Given the description of an element on the screen output the (x, y) to click on. 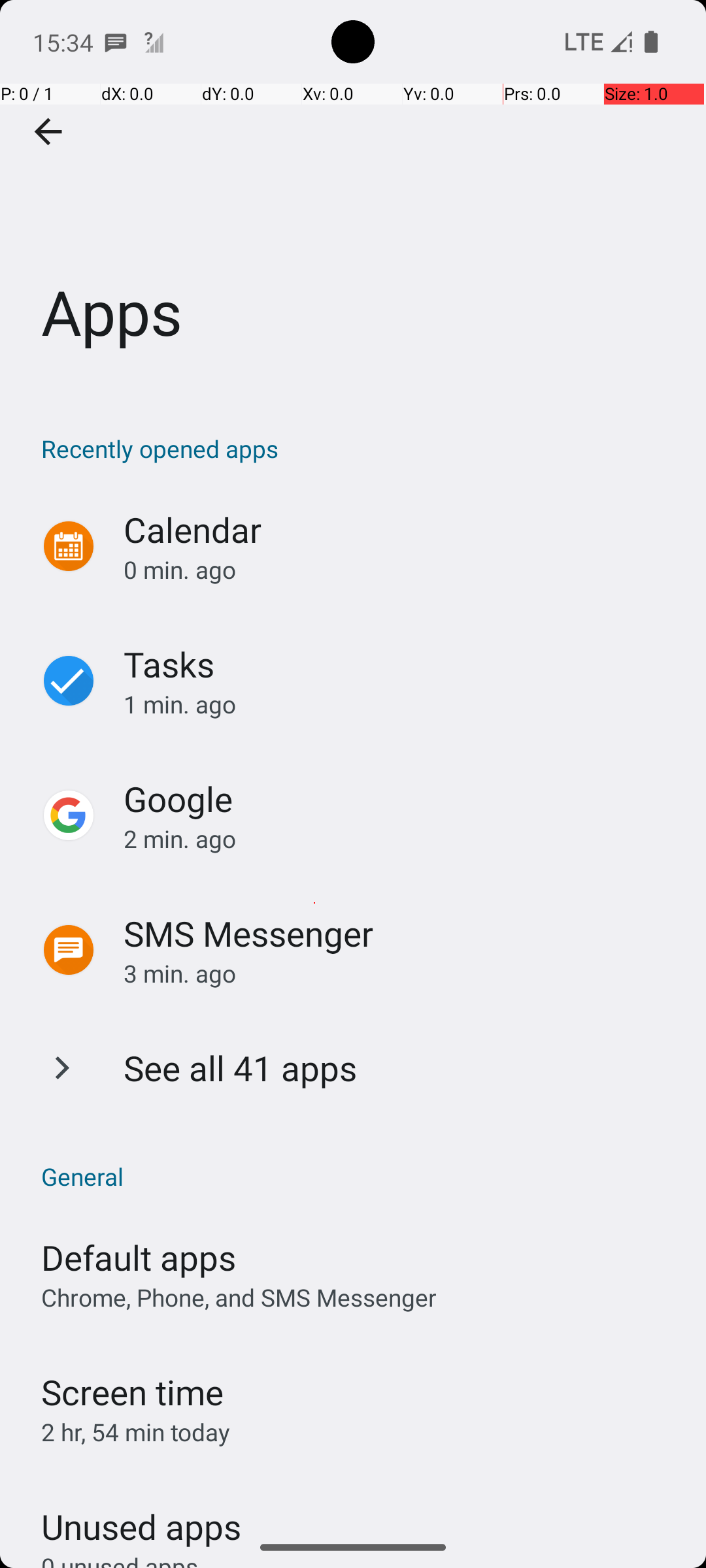
0 min. ago Element type: android.widget.TextView (400, 569)
1 min. ago Element type: android.widget.TextView (400, 703)
2 min. ago Element type: android.widget.TextView (400, 838)
3 min. ago Element type: android.widget.TextView (400, 972)
2 hr, 54 min today Element type: android.widget.TextView (135, 1431)
